Given the description of an element on the screen output the (x, y) to click on. 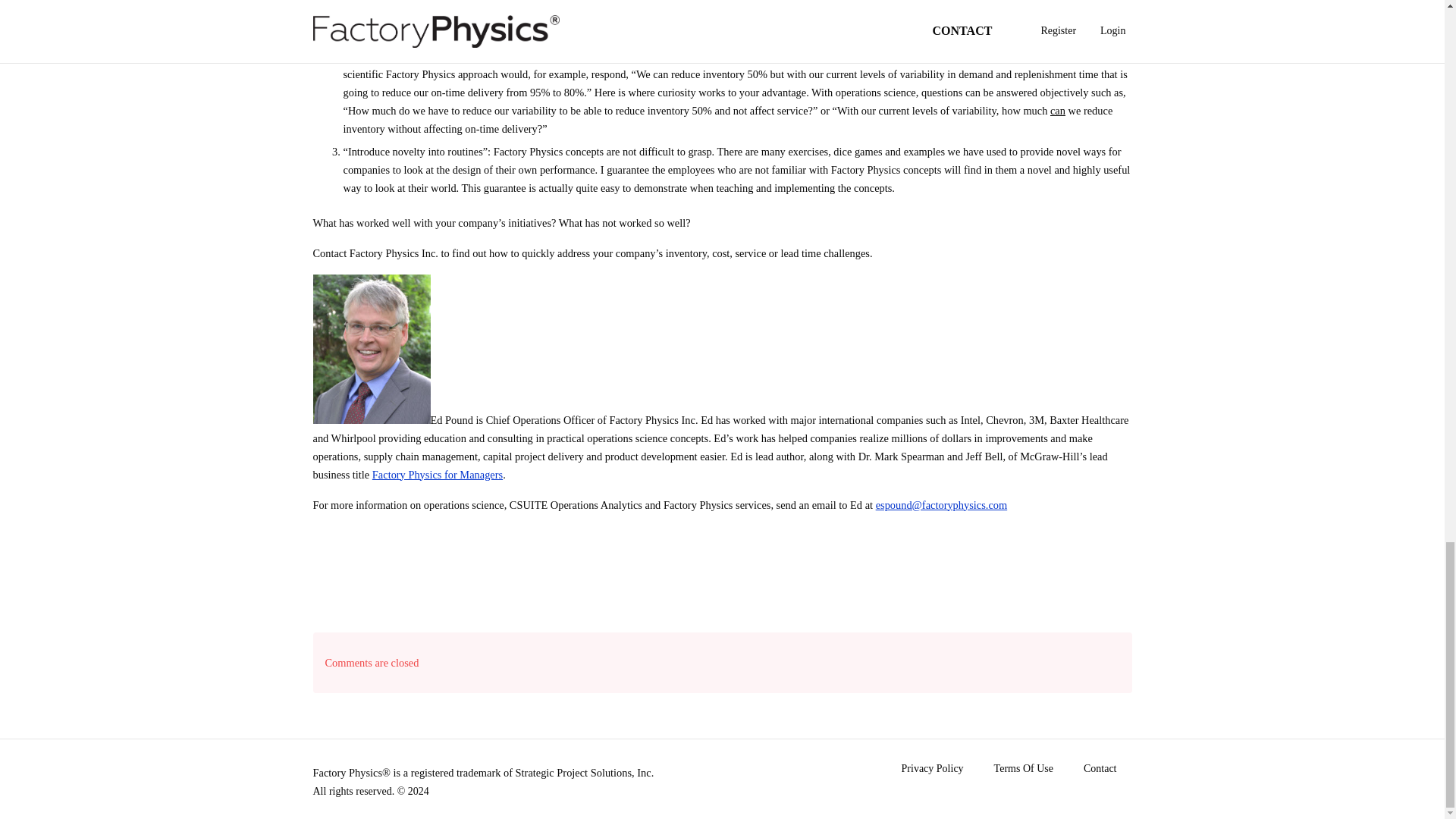
Contact (1100, 776)
Privacy Policy (932, 776)
Terms Of Use (1023, 776)
Factory Physics for Managers (437, 474)
